Given the description of an element on the screen output the (x, y) to click on. 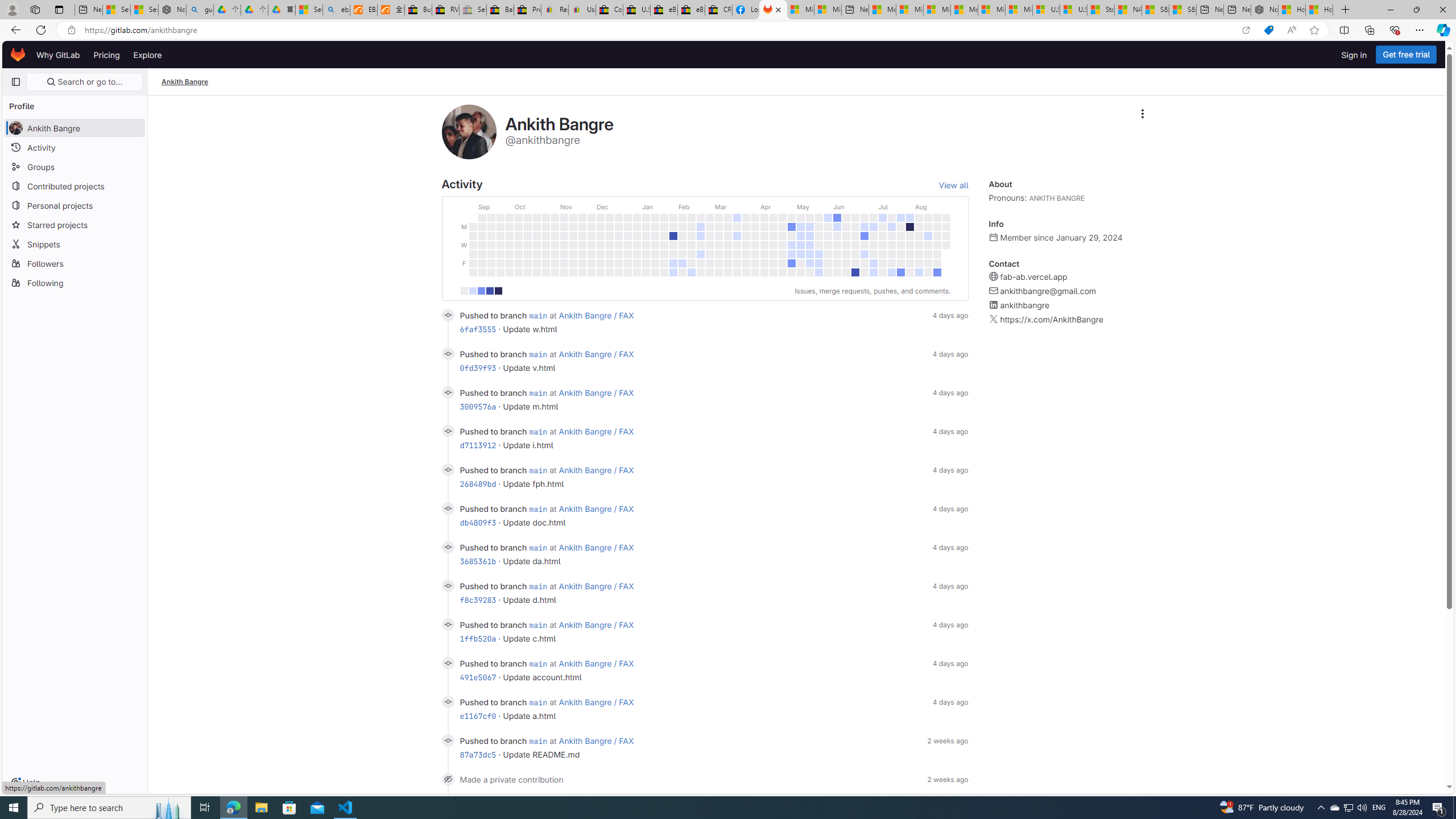
10-19 contributions (480, 290)
Personal projects (74, 205)
guge yunpan - Search (200, 9)
How to Use a Monitor With Your Closed Laptop (1319, 9)
